Given the description of an element on the screen output the (x, y) to click on. 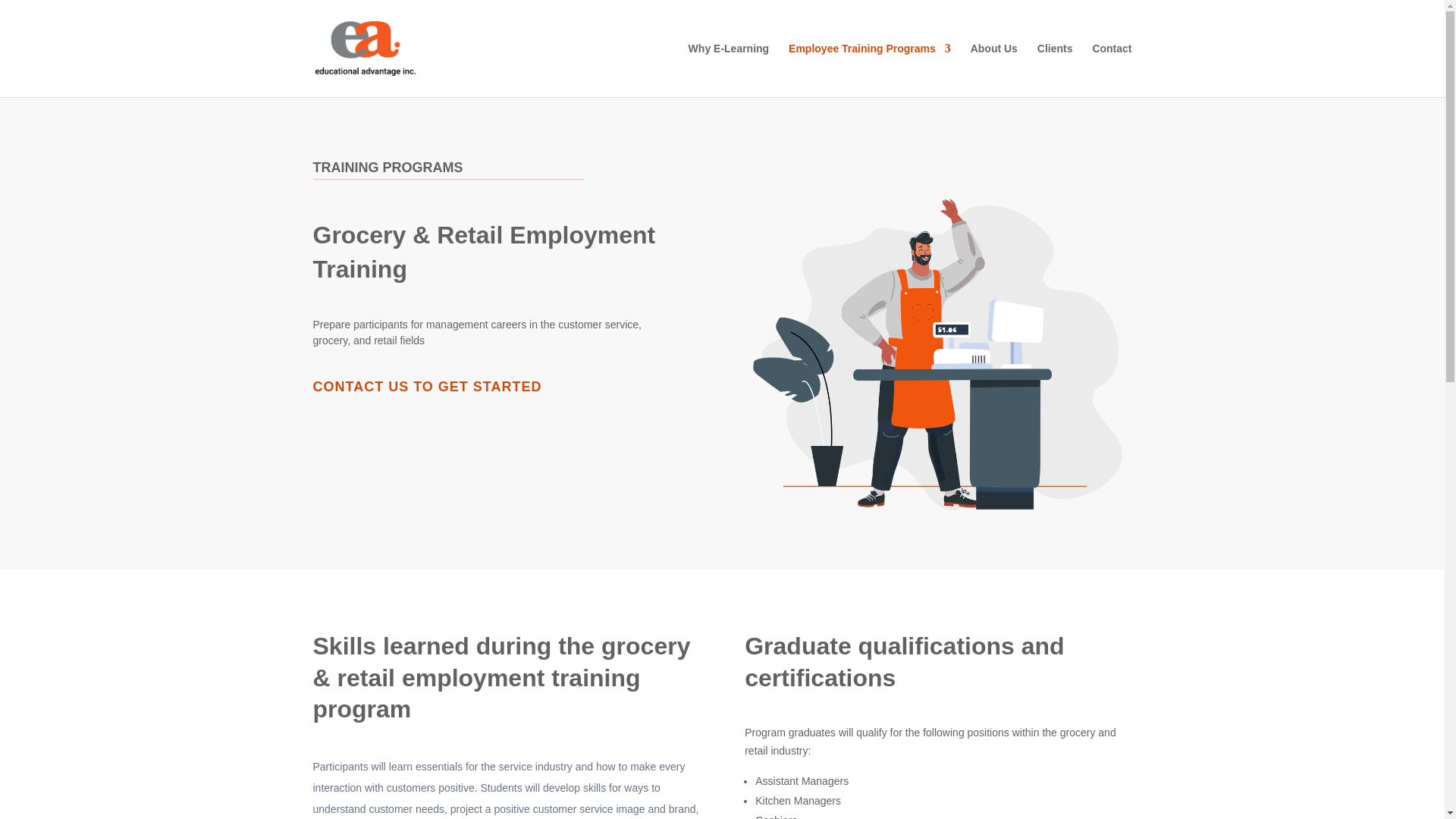
Employee Training Programs (869, 70)
CONTACT US TO GET STARTED (427, 386)
Why E-Learning (729, 70)
